Given the description of an element on the screen output the (x, y) to click on. 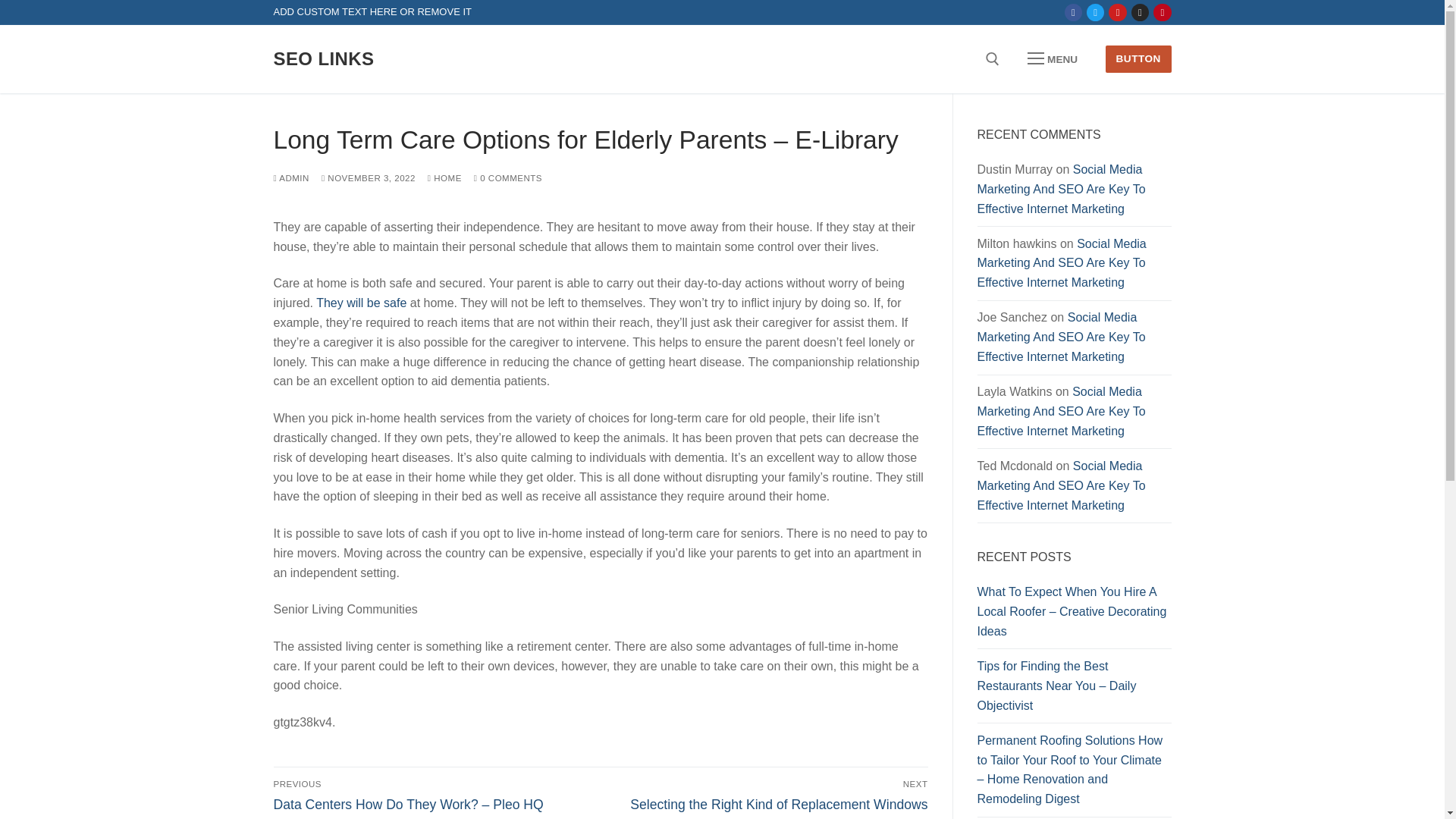
Twitter (1095, 12)
Facebook (1073, 12)
MENU (1052, 59)
HOME (444, 177)
NOVEMBER 3, 2022 (367, 177)
0 COMMENTS (507, 177)
They will be safe (360, 302)
SEO LINKS (323, 58)
ADMIN (290, 177)
BUTTON (1138, 59)
